Given the description of an element on the screen output the (x, y) to click on. 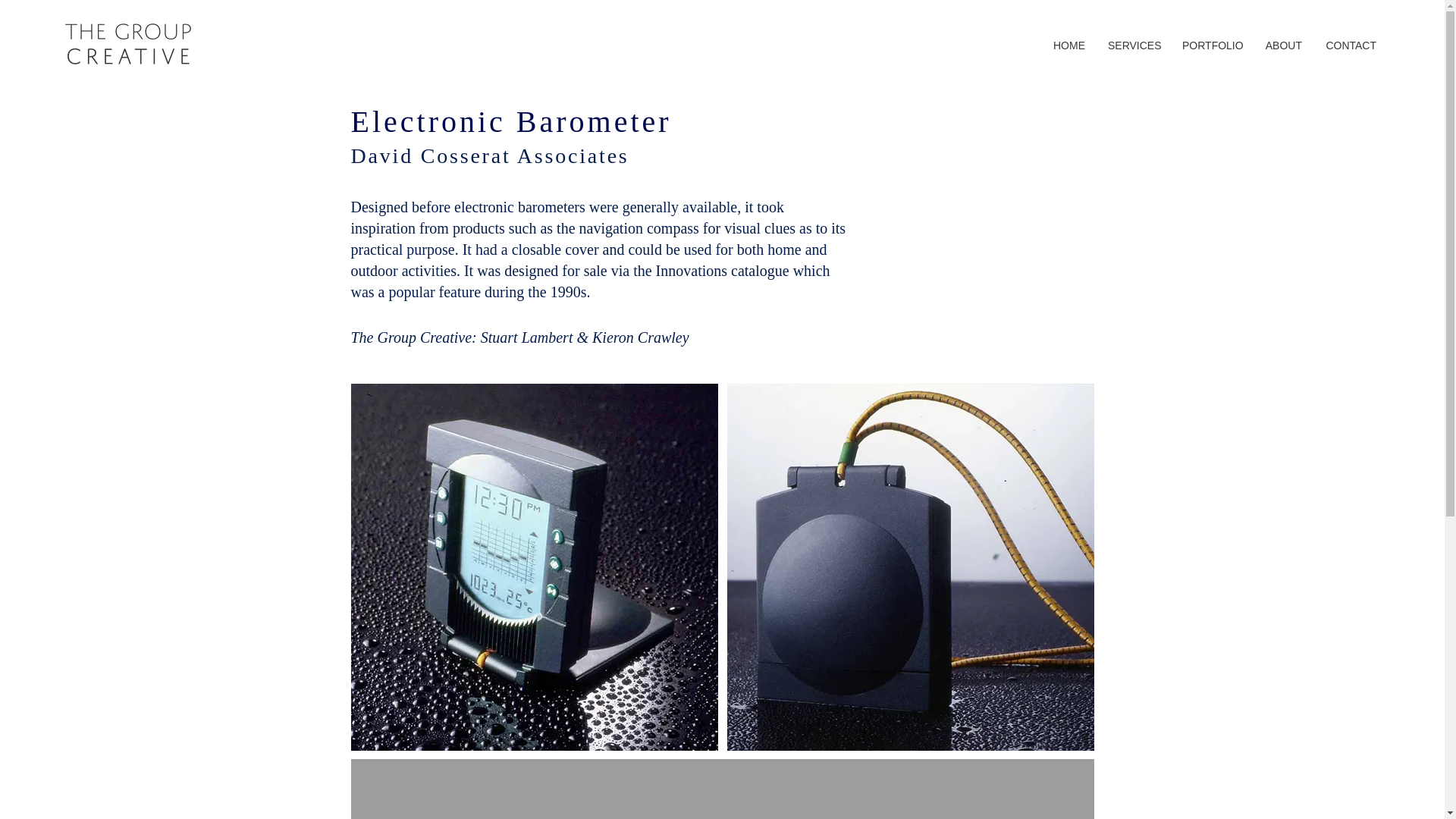
CONTACT (1350, 45)
SERVICES (1133, 45)
PORTFOLIO (1211, 45)
ABOUT (1283, 45)
HOME (1068, 45)
